Given the description of an element on the screen output the (x, y) to click on. 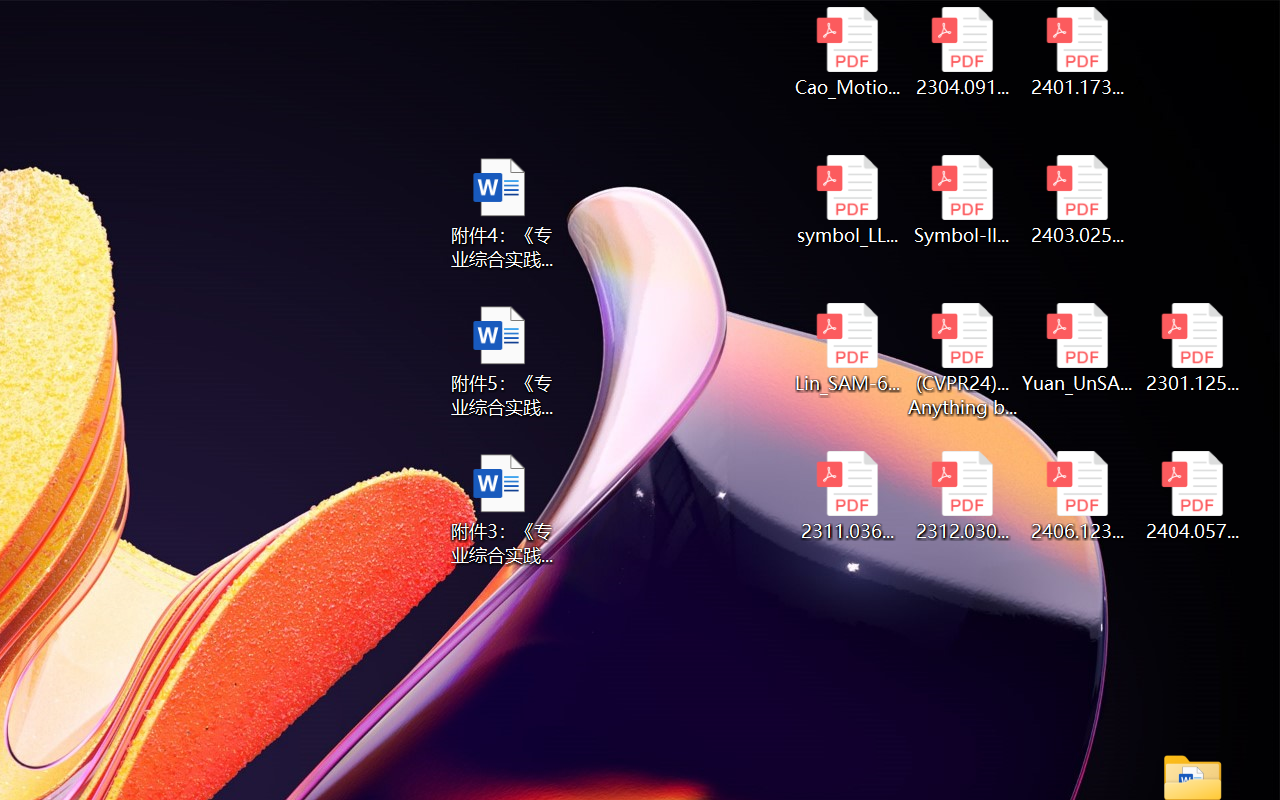
(CVPR24)Matching Anything by Segmenting Anything.pdf (962, 360)
